Given the description of an element on the screen output the (x, y) to click on. 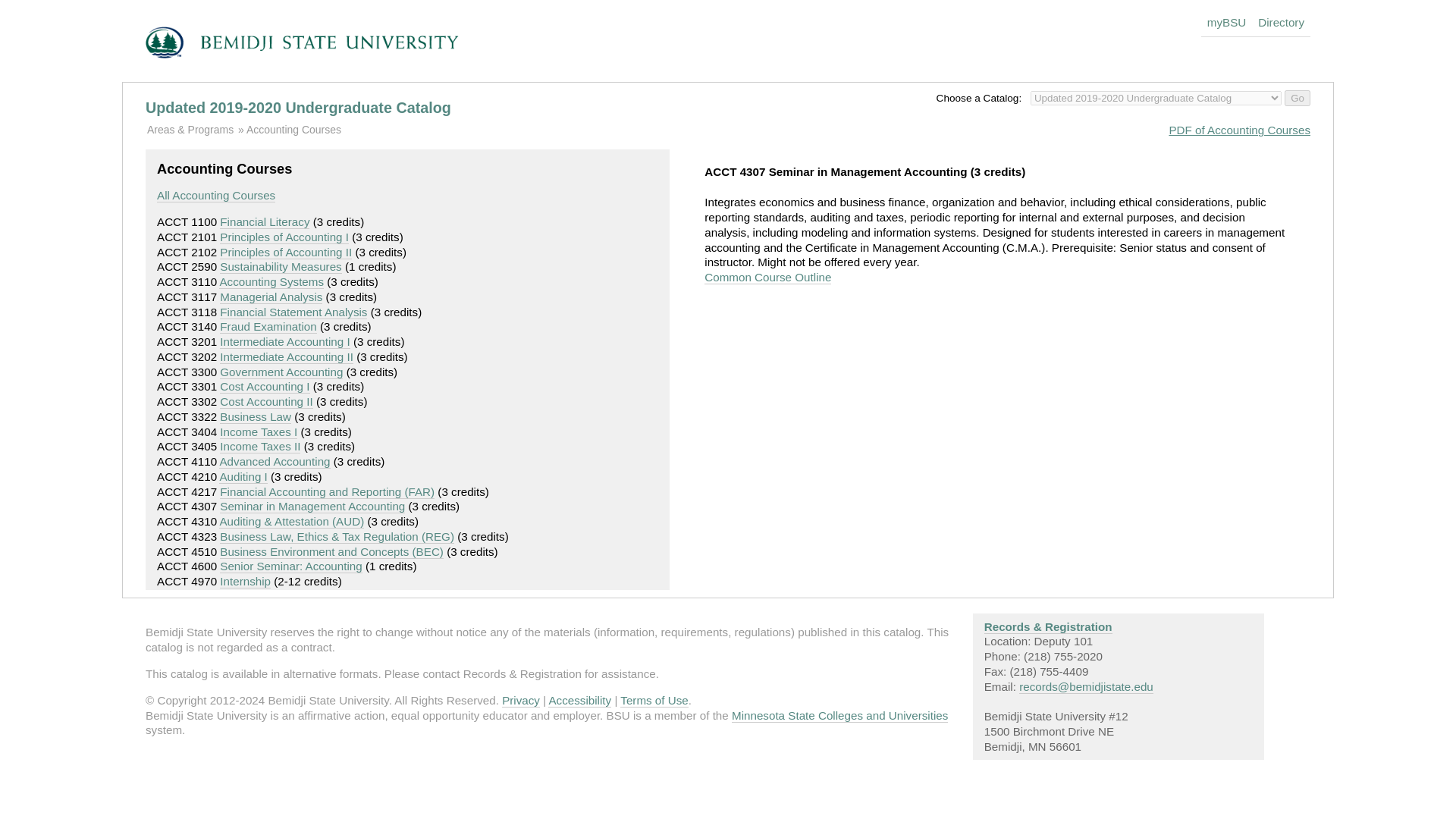
Updated 2019-2020 Undergraduate Catalog (298, 107)
Internship (244, 581)
Directory (1281, 18)
Intermediate Accounting II (286, 356)
Fraud Examination (267, 326)
Accounting Systems (271, 282)
myBSU (1226, 18)
Senior Seminar: Accounting (290, 566)
Go (1297, 98)
All Accounting Courses (216, 195)
Go (1297, 98)
Advanced Accounting (274, 461)
Common Course Outline (767, 277)
Financial Literacy (263, 222)
Income Taxes II (259, 446)
